Given the description of an element on the screen output the (x, y) to click on. 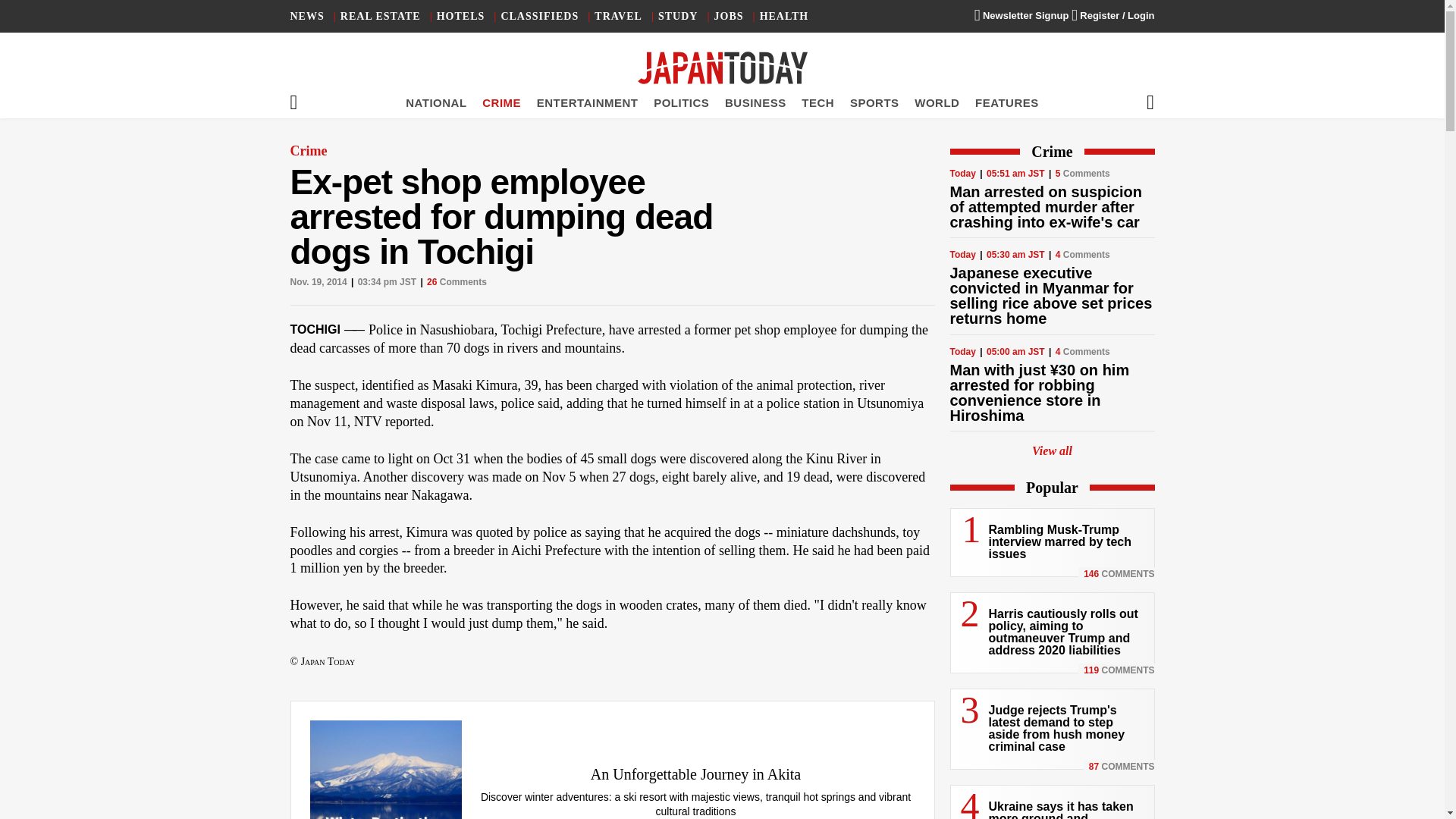
ENTERTAINMENT (588, 102)
FEATURES (1007, 102)
Japan Today (721, 67)
BUSINESS (755, 102)
HOTELS (460, 16)
POLITICS (681, 102)
SPORTS (874, 102)
